Given the description of an element on the screen output the (x, y) to click on. 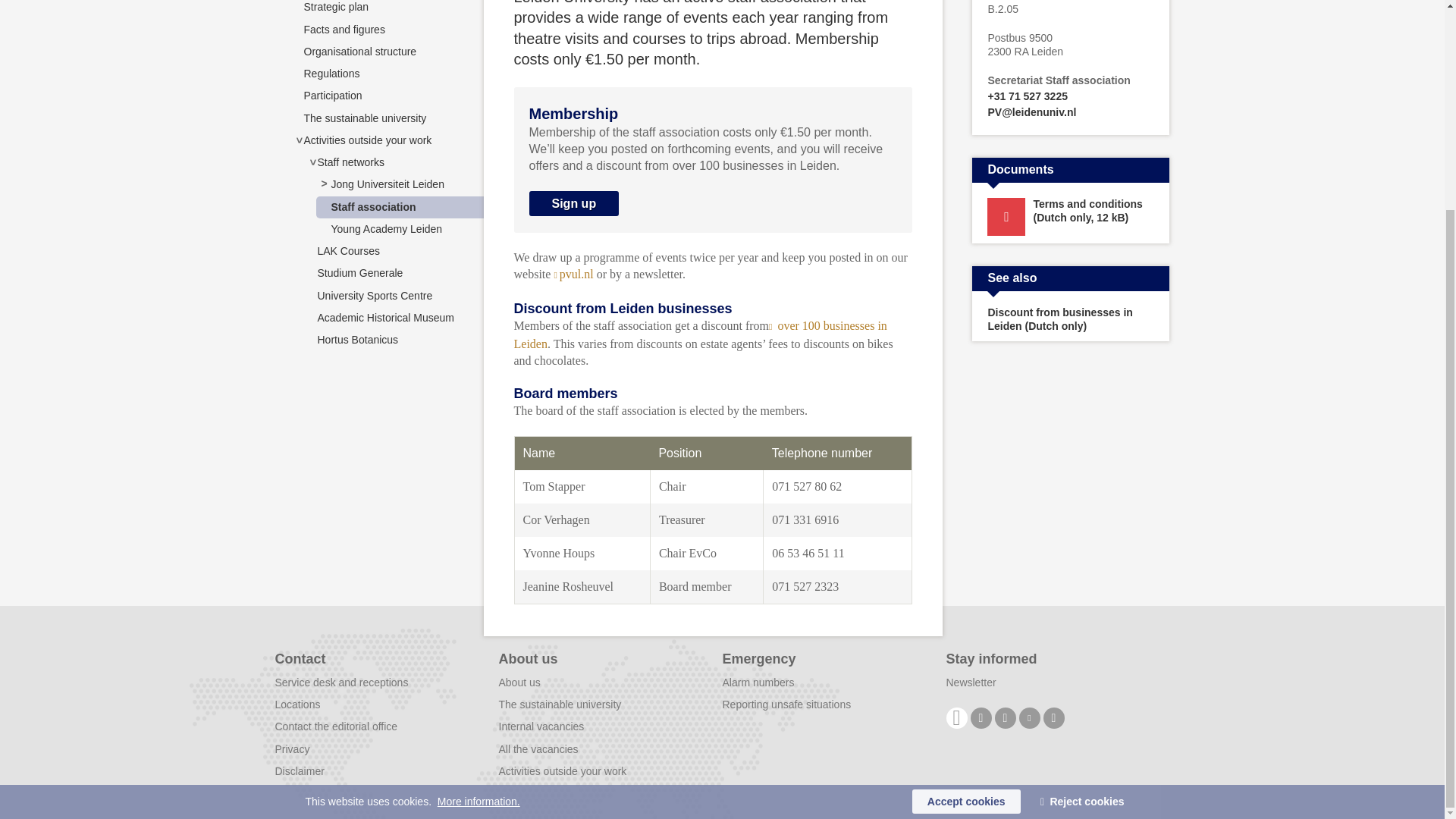
Activities outside your work (366, 140)
The sustainable university (364, 118)
Young Academy Leiden (386, 228)
Participation (331, 95)
Facts and figures (343, 29)
Regulations (330, 73)
Strategic plan (335, 6)
LAK Courses (347, 250)
Jong Universiteit Leiden (387, 184)
Studium Generale (360, 272)
University Sports Centre (374, 295)
Staff association (372, 206)
Staff networks (350, 162)
Organisational structure (359, 51)
